Given the description of an element on the screen output the (x, y) to click on. 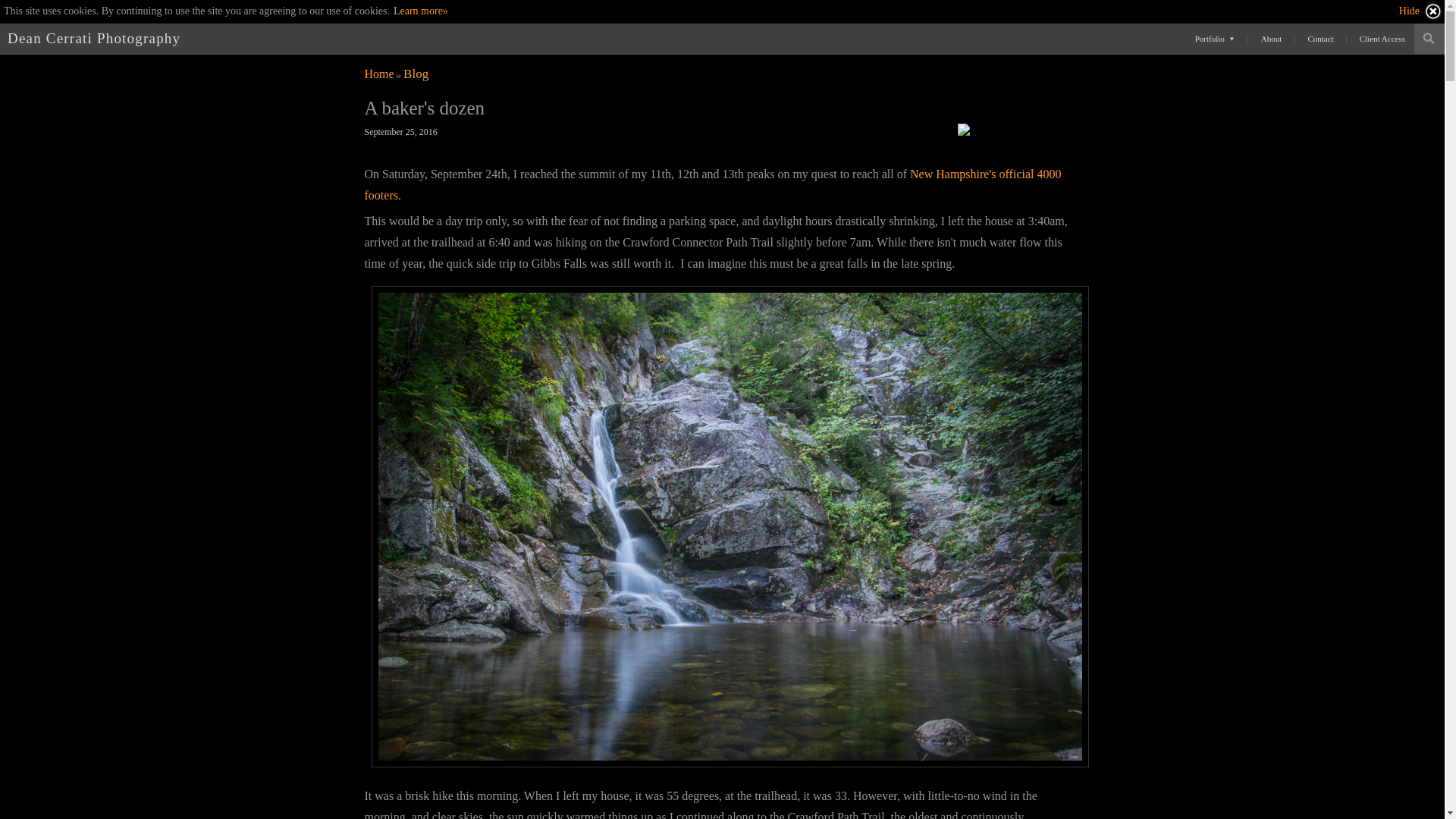
New Hampshire's official 4000 footers (712, 184)
About (1271, 38)
Client Access (1382, 38)
Blog (415, 73)
Dean Cerrati Photography (93, 38)
Dean Cerrati Photography (93, 38)
Dean Cerrati Photography (378, 73)
Home (378, 73)
Contact (1320, 38)
Hide (1420, 11)
